Given the description of an element on the screen output the (x, y) to click on. 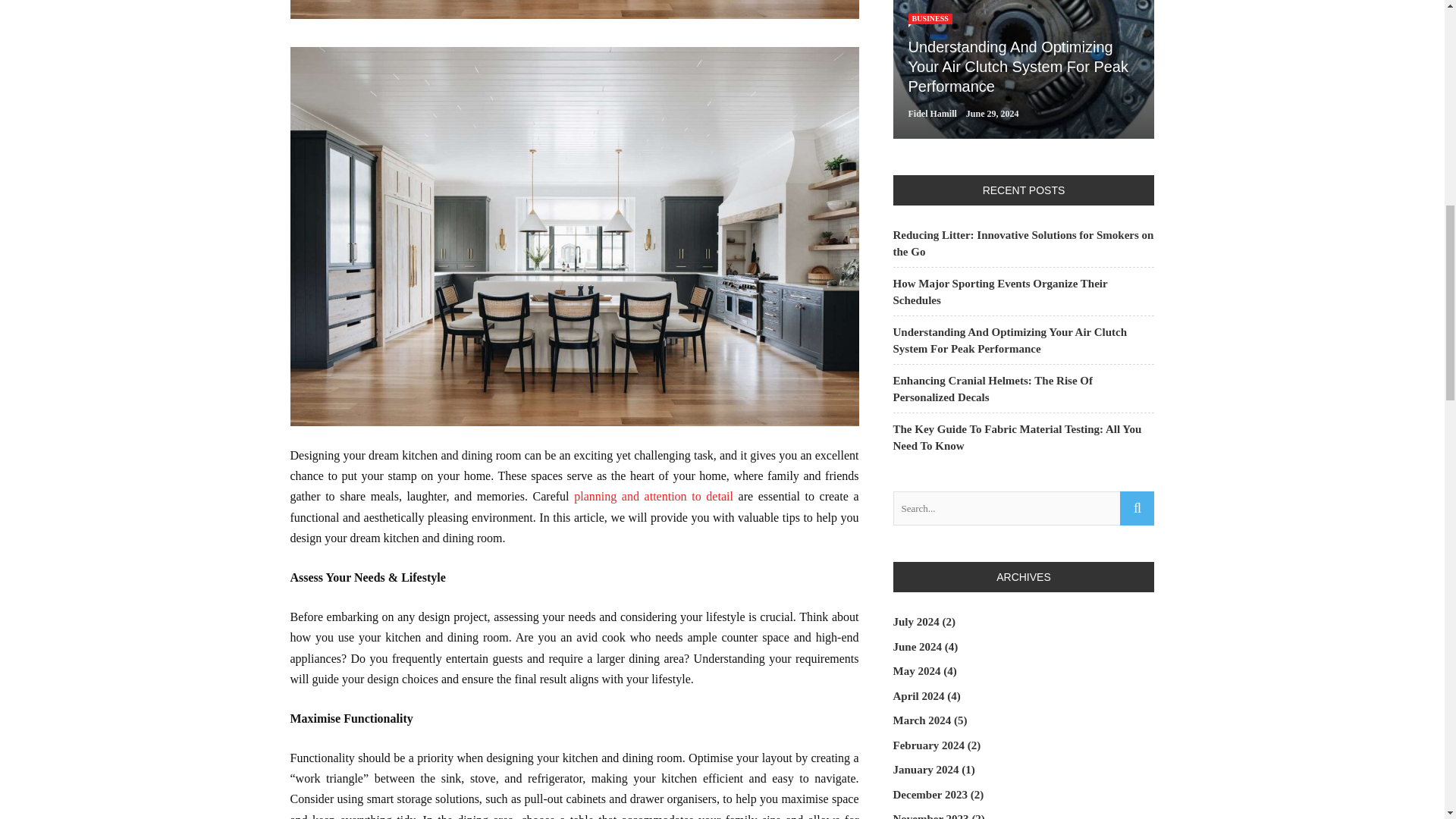
planning and attention to detail (653, 495)
